Given the description of an element on the screen output the (x, y) to click on. 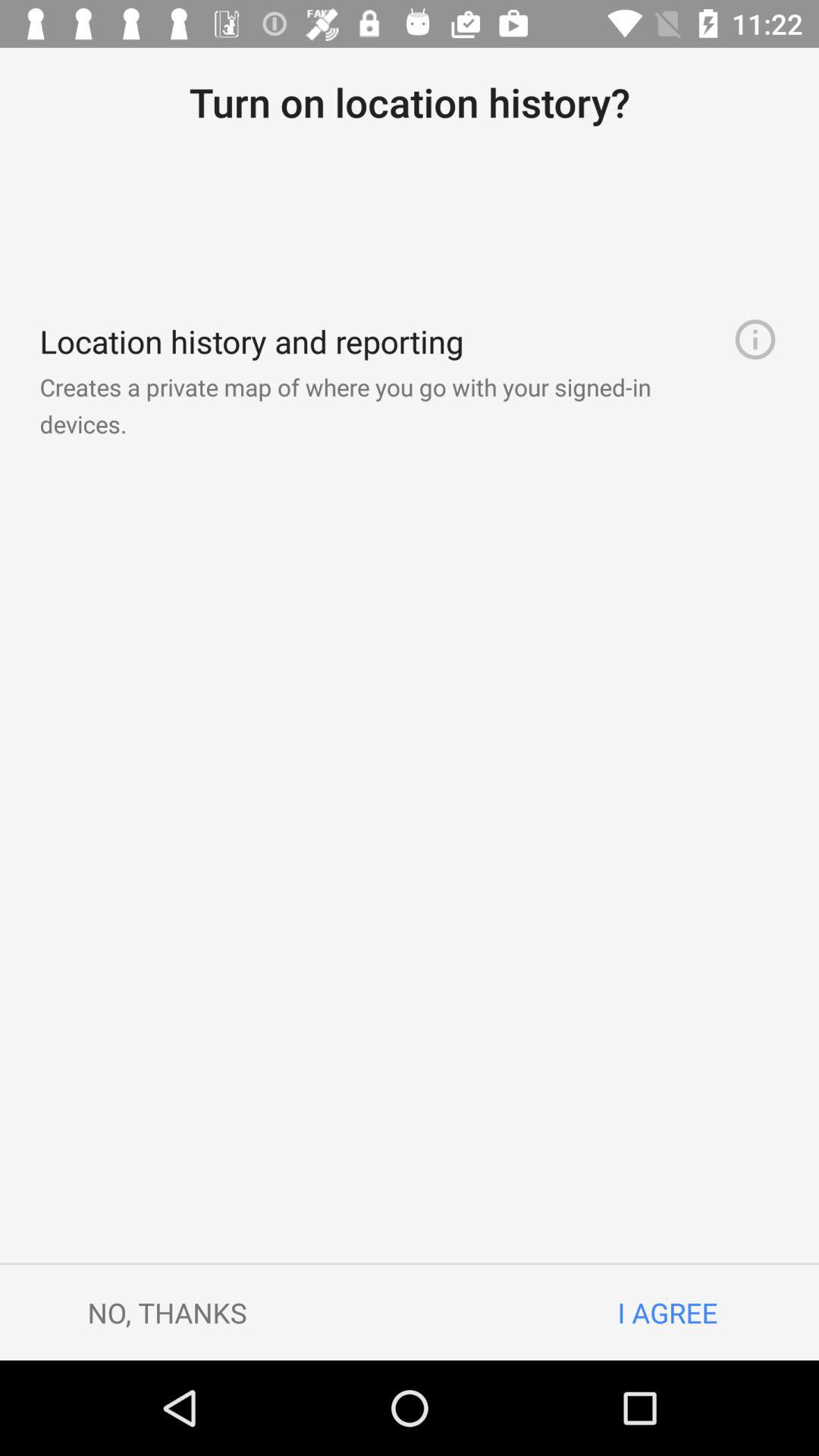
turn on icon to the right of the creates a private item (755, 339)
